Given the description of an element on the screen output the (x, y) to click on. 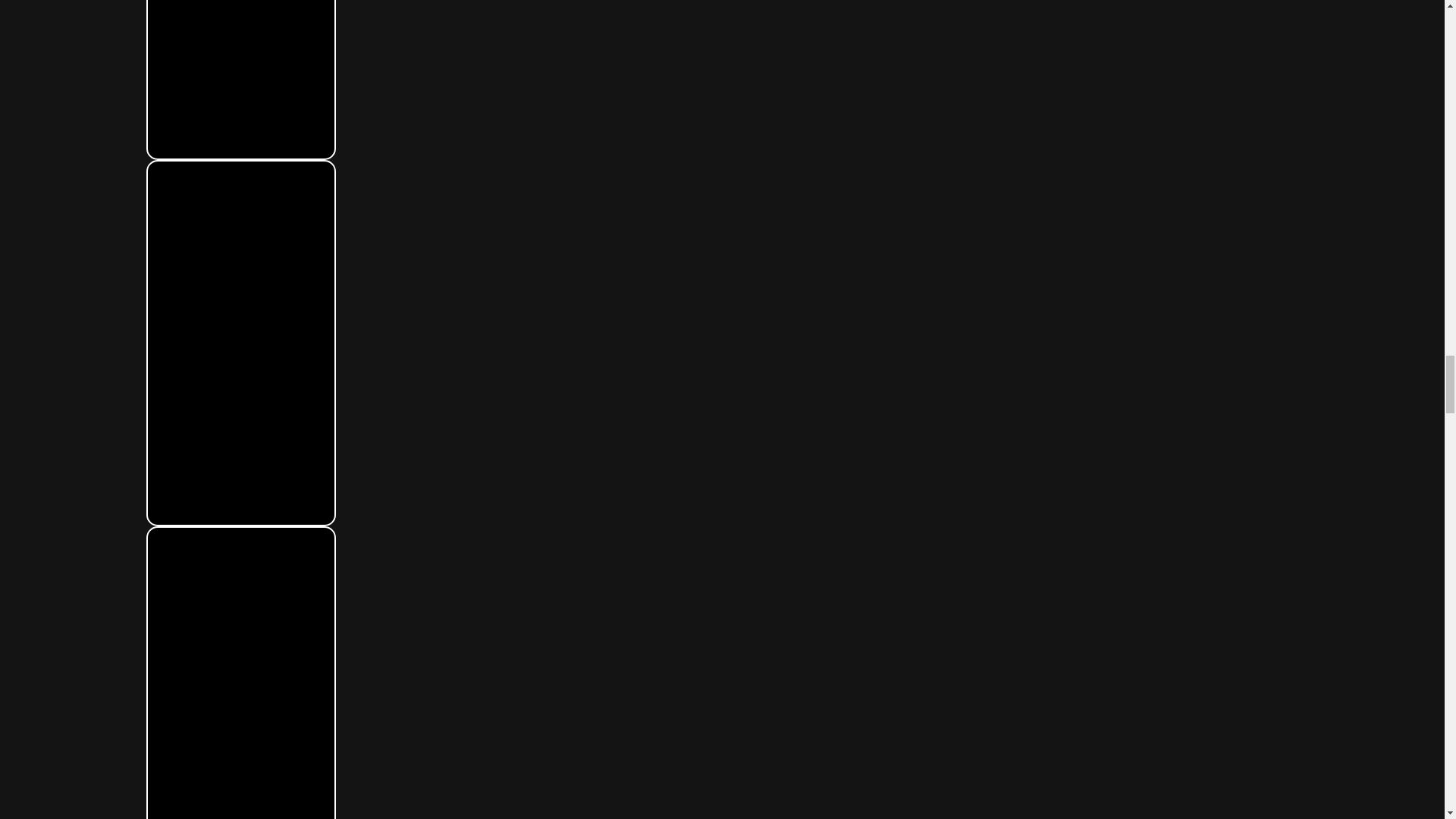
Join RA MA LIFE (240, 79)
